Given the description of an element on the screen output the (x, y) to click on. 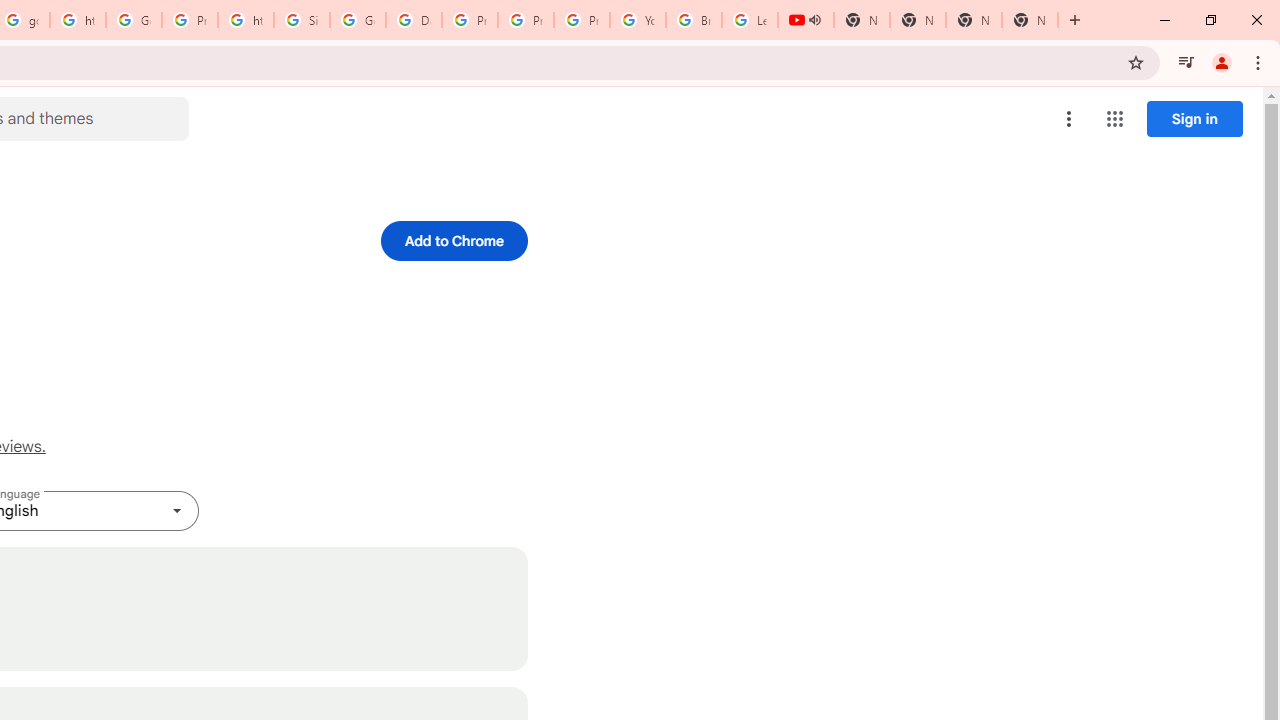
Add to Chrome (453, 240)
New Tab (1030, 20)
Privacy Help Center - Policies Help (469, 20)
Privacy Help Center - Policies Help (525, 20)
Sign in - Google Accounts (301, 20)
